Given the description of an element on the screen output the (x, y) to click on. 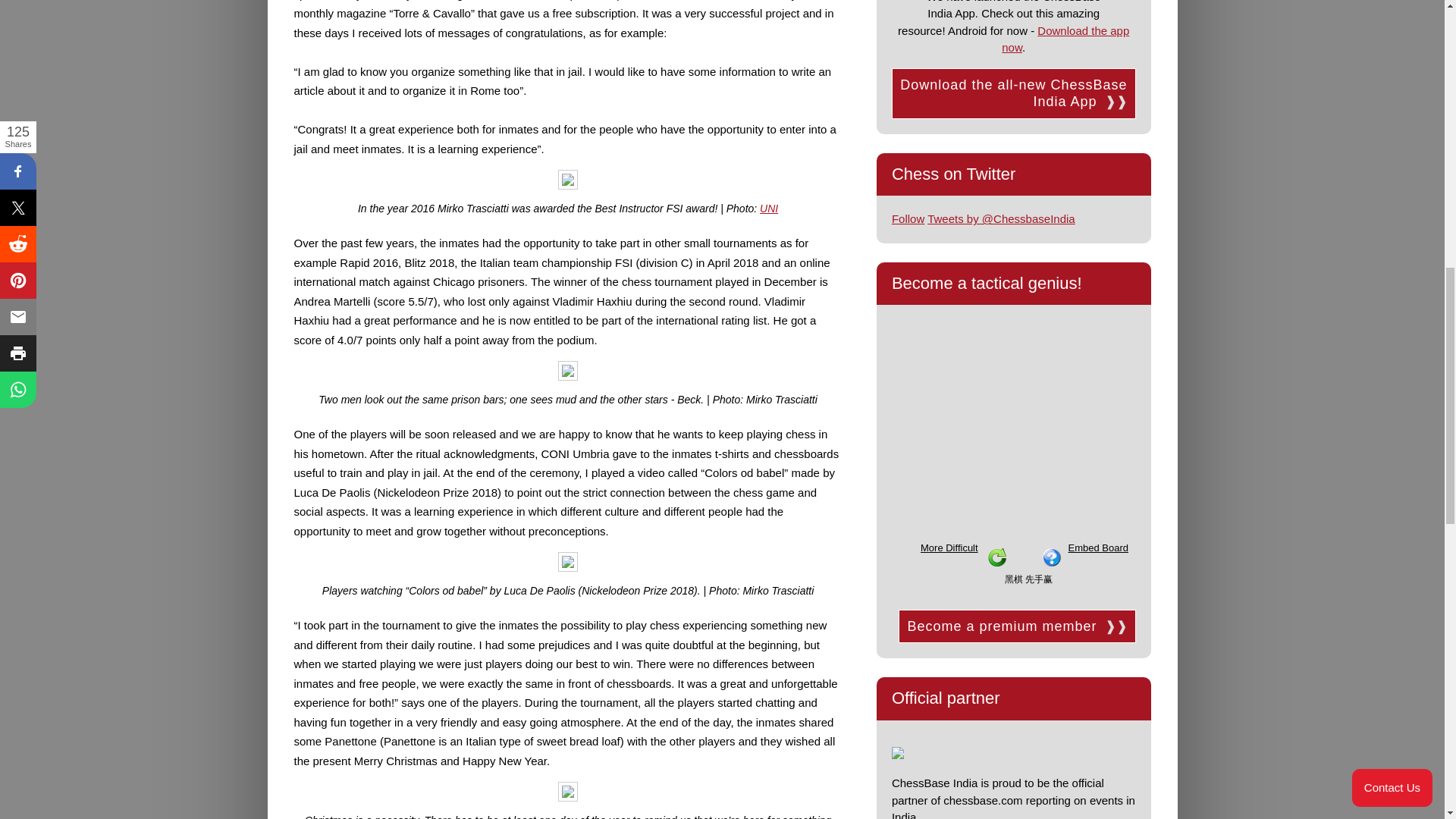
Become a premium member (1016, 626)
Follow (907, 218)
Download the app now (1065, 39)
UNI (768, 208)
Download the all-new ChessBase India App (1013, 92)
